Given the description of an element on the screen output the (x, y) to click on. 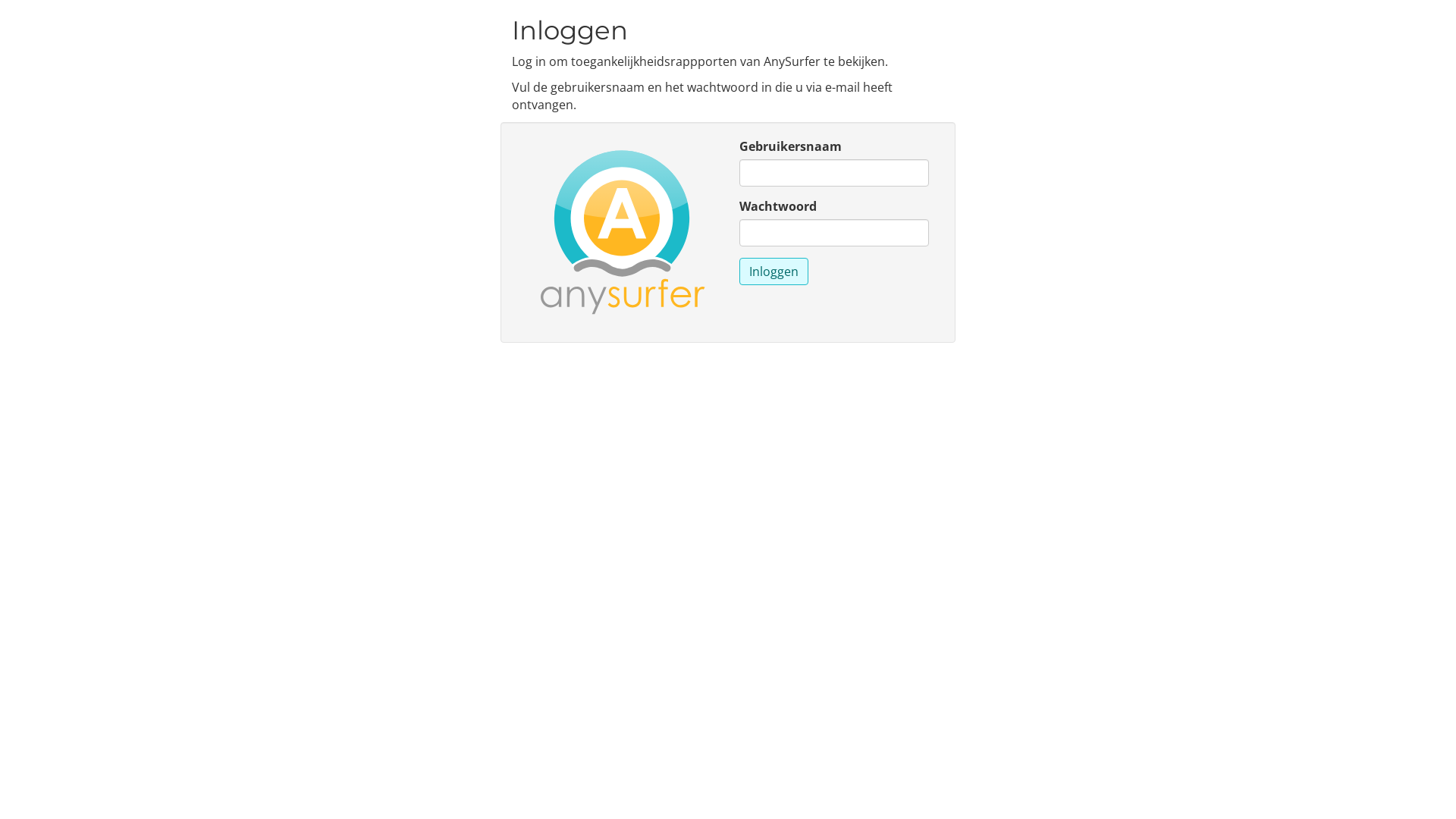
Inloggen Element type: text (773, 271)
